Given the description of an element on the screen output the (x, y) to click on. 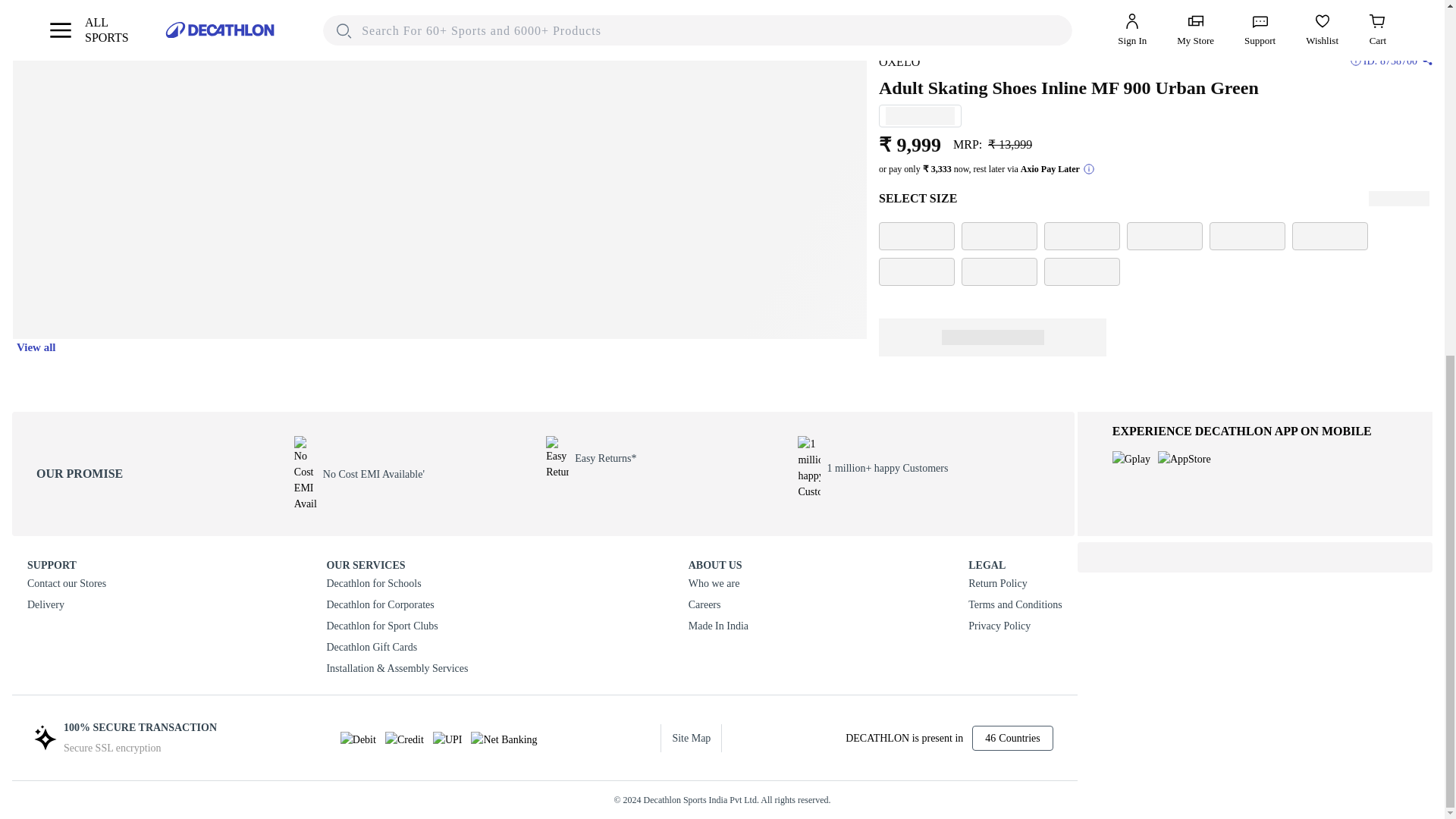
Careers (718, 604)
Decathlon for Corporates (396, 604)
Decathlon Gift Cards (396, 647)
Delivery (66, 604)
Site Map (691, 737)
Decathlon for Schools (396, 583)
Contact our Stores (66, 583)
Who we are (718, 583)
Decathlon for Sport Clubs (396, 626)
Return Policy (1014, 583)
